Given the description of an element on the screen output the (x, y) to click on. 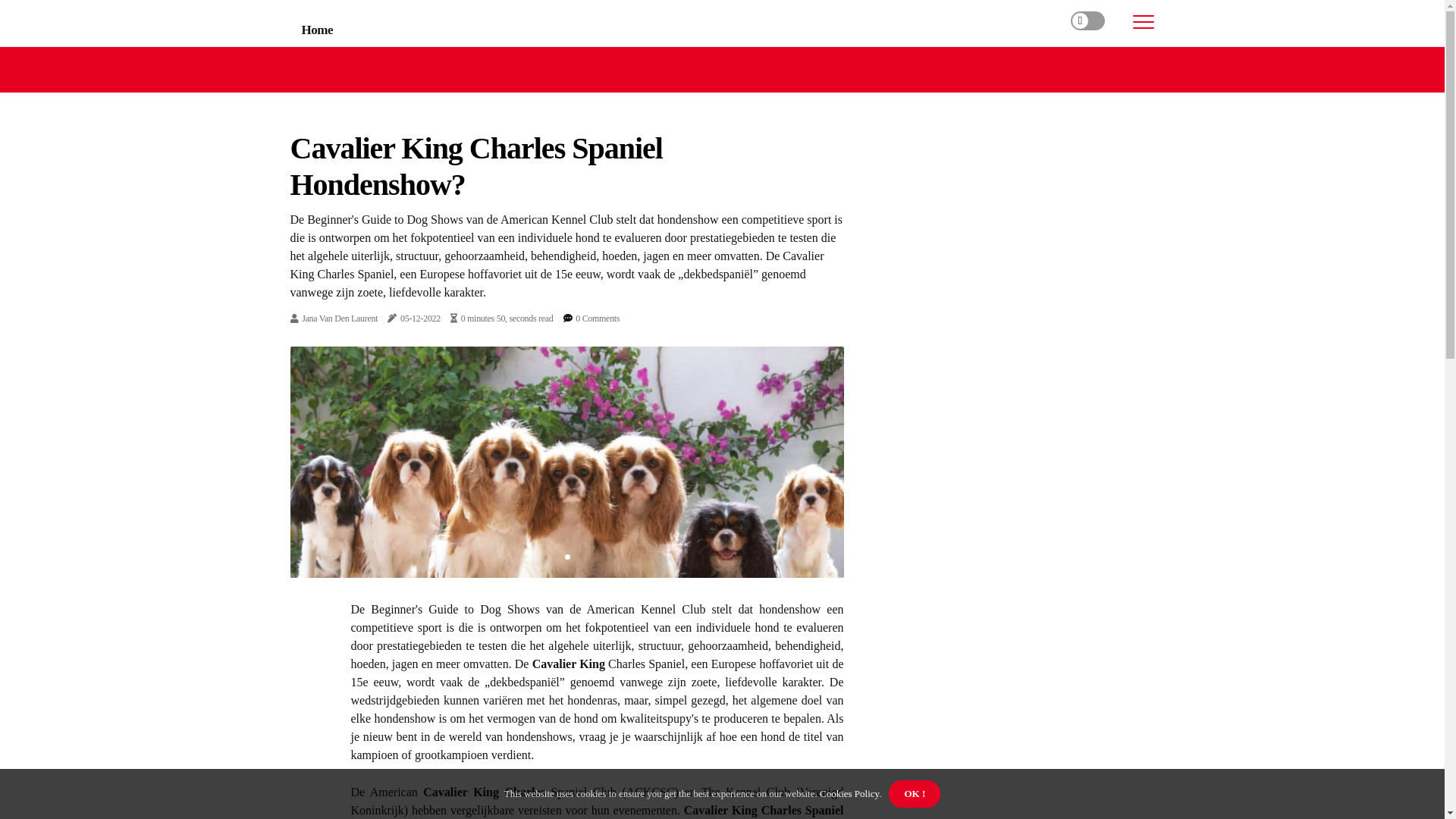
0 Comments Element type: text (597, 318)
Home Element type: text (317, 30)
Cookies Policy Element type: text (848, 793)
1 Element type: text (566, 556)
Jana Van Den Laurent Element type: text (339, 318)
